Given the description of an element on the screen output the (x, y) to click on. 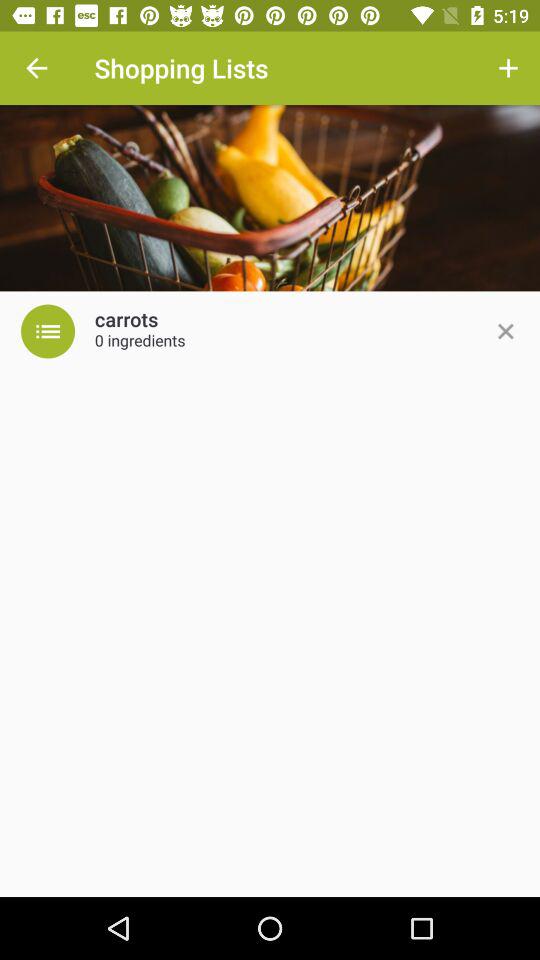
turn on the item next to the shopping lists (508, 67)
